Given the description of an element on the screen output the (x, y) to click on. 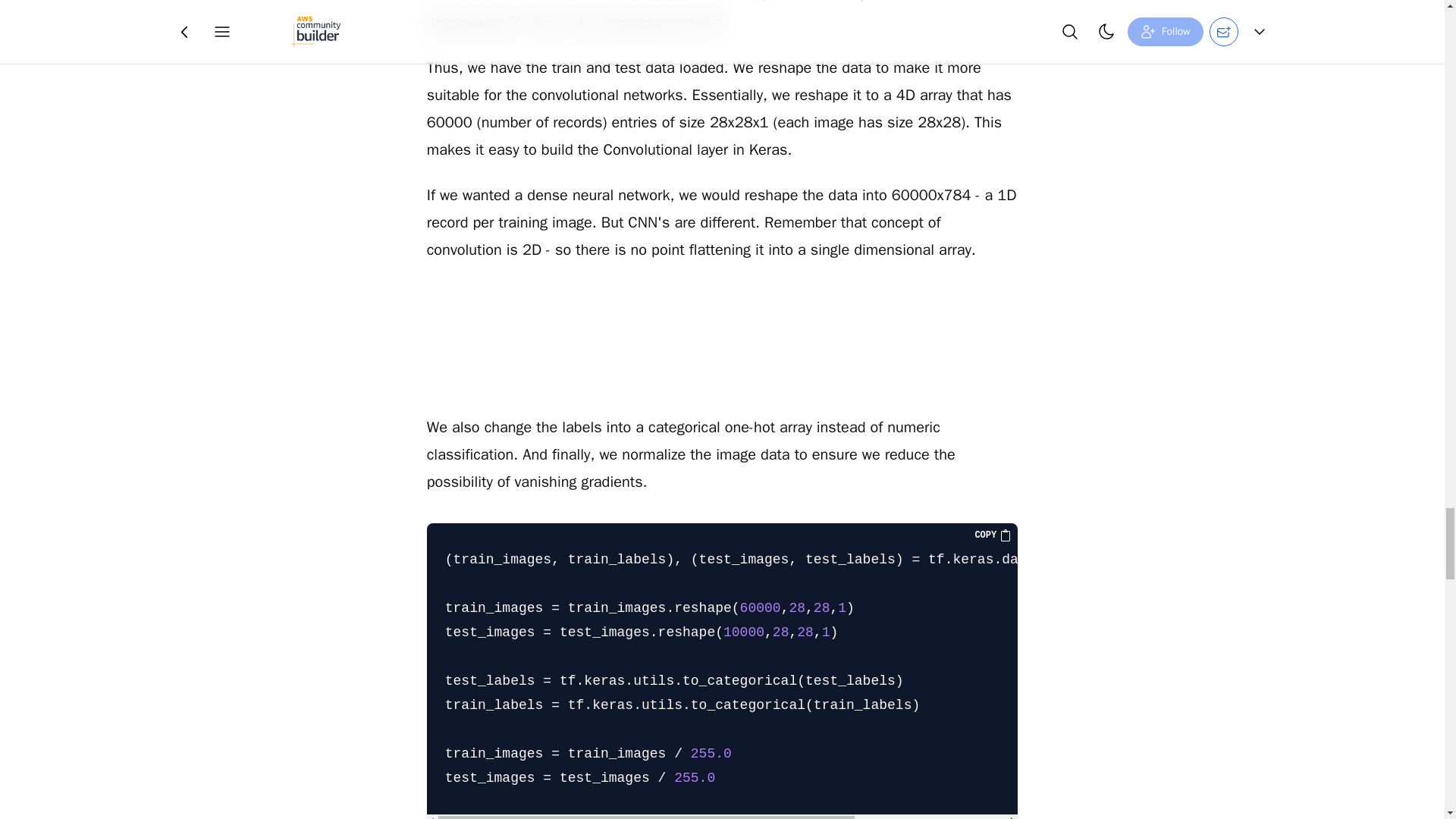
COPY (992, 535)
